Given the description of an element on the screen output the (x, y) to click on. 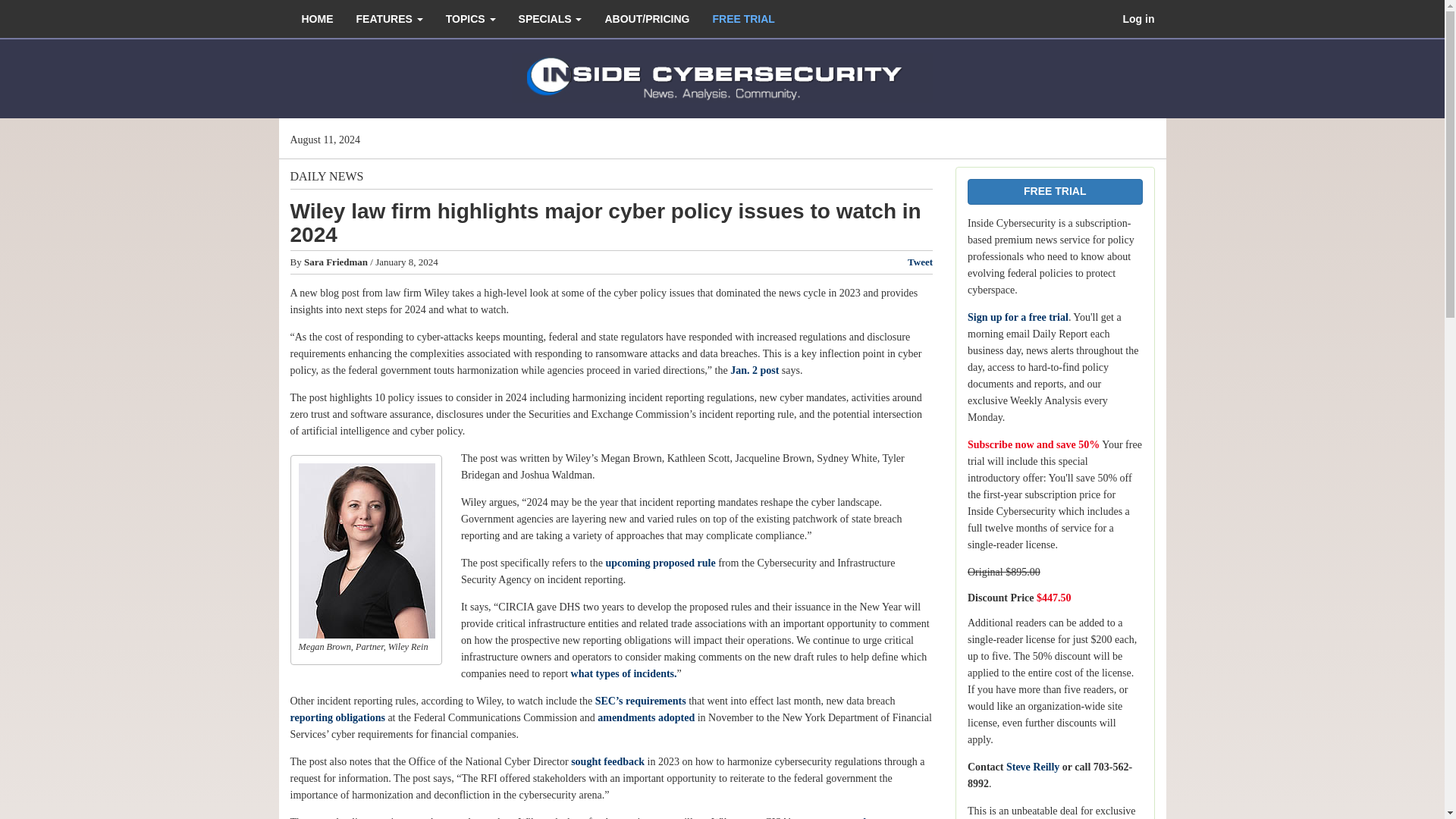
TOPICS (469, 18)
FEATURES (388, 18)
HOME (316, 18)
